Given the description of an element on the screen output the (x, y) to click on. 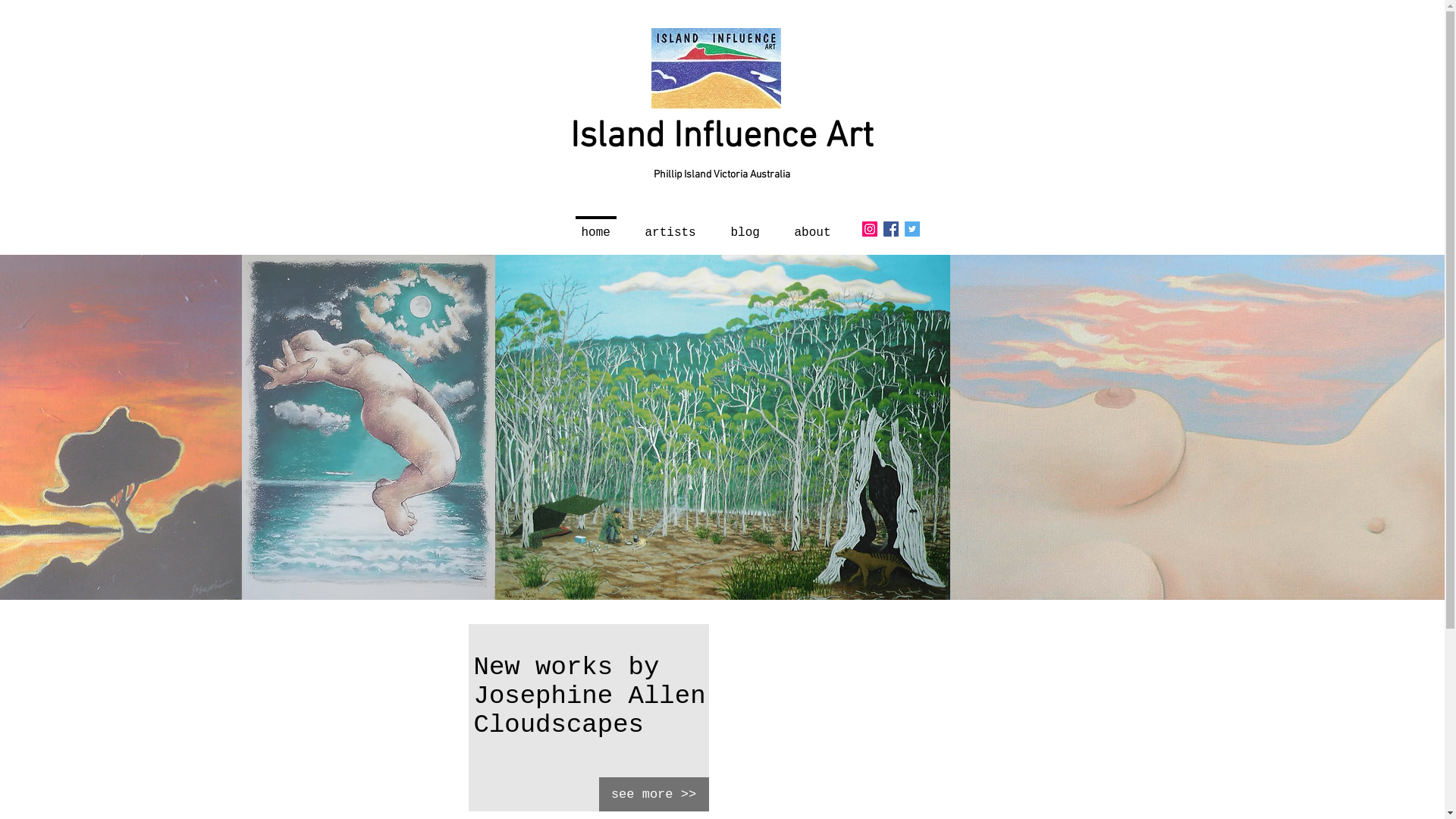
home Element type: text (595, 225)
see more >> Element type: text (654, 794)
about Element type: text (811, 225)
blog Element type: text (744, 225)
Island Influence logo 08 web.jpg Element type: hover (715, 67)
artists Element type: text (670, 225)
